Given the description of an element on the screen output the (x, y) to click on. 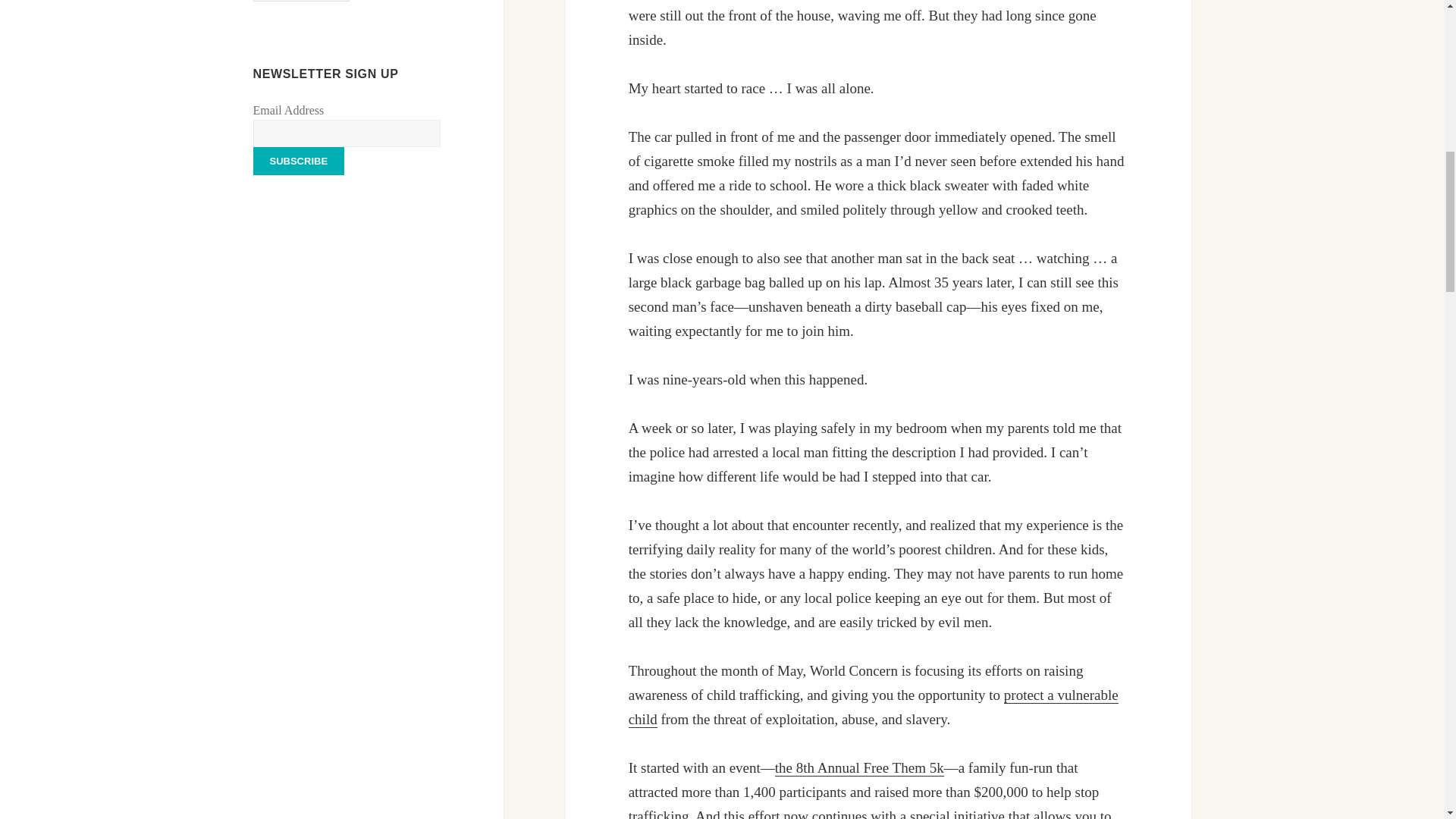
Subscribe (299, 161)
special initiative (957, 813)
protect a vulnerable child (873, 707)
Subscribe (299, 161)
the 8th Annual Free Them 5k (858, 768)
